Given the description of an element on the screen output the (x, y) to click on. 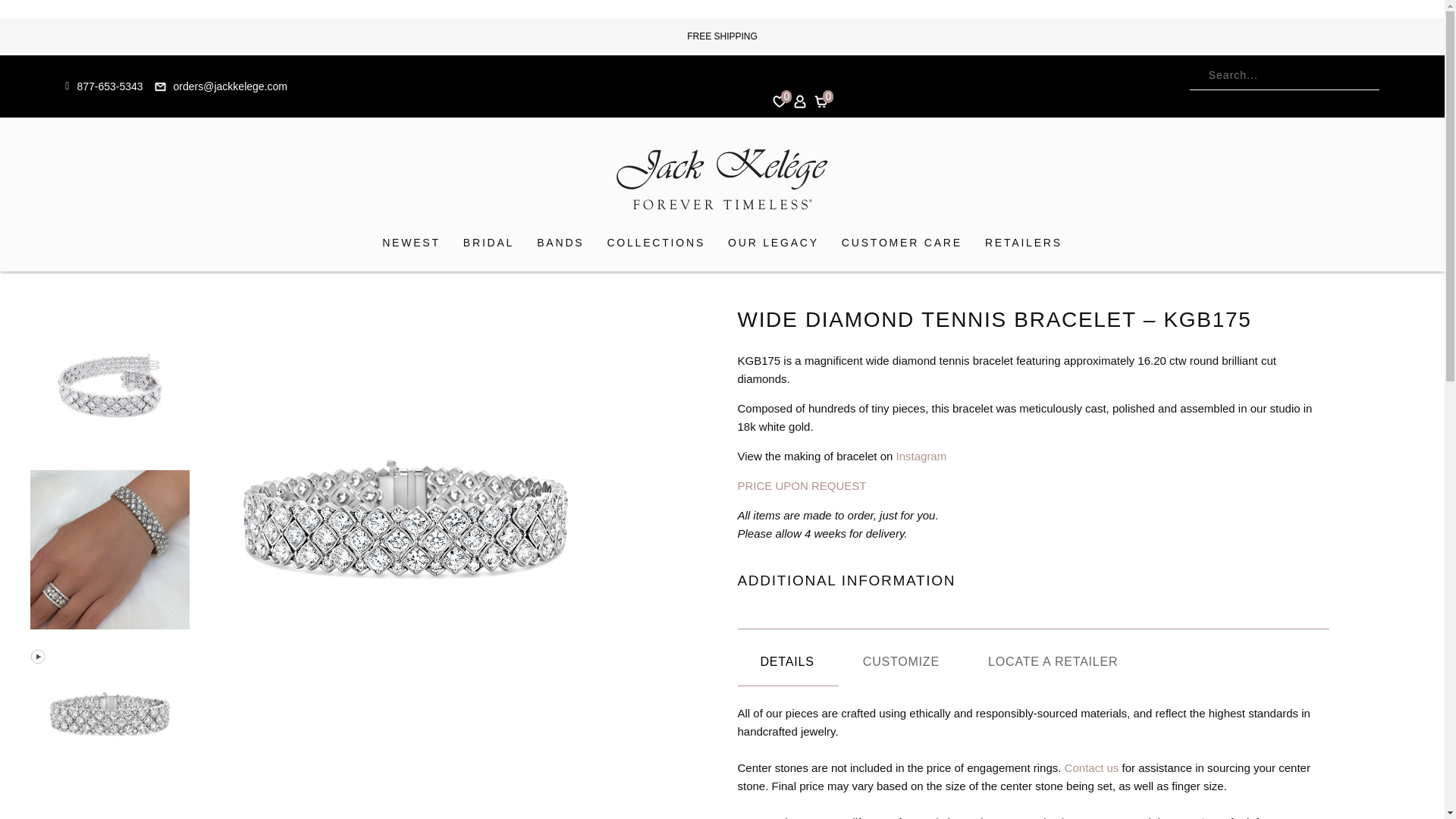
COLLECTIONS (655, 242)
RETAILERS (1024, 242)
NEWEST (411, 242)
0 (824, 101)
CUSTOMER CARE (901, 242)
Image Caption (109, 713)
Search (63, 15)
877-653-5343 (103, 86)
BANDS (560, 242)
OUR LEGACY (772, 242)
BRIDAL (488, 242)
